Given the description of an element on the screen output the (x, y) to click on. 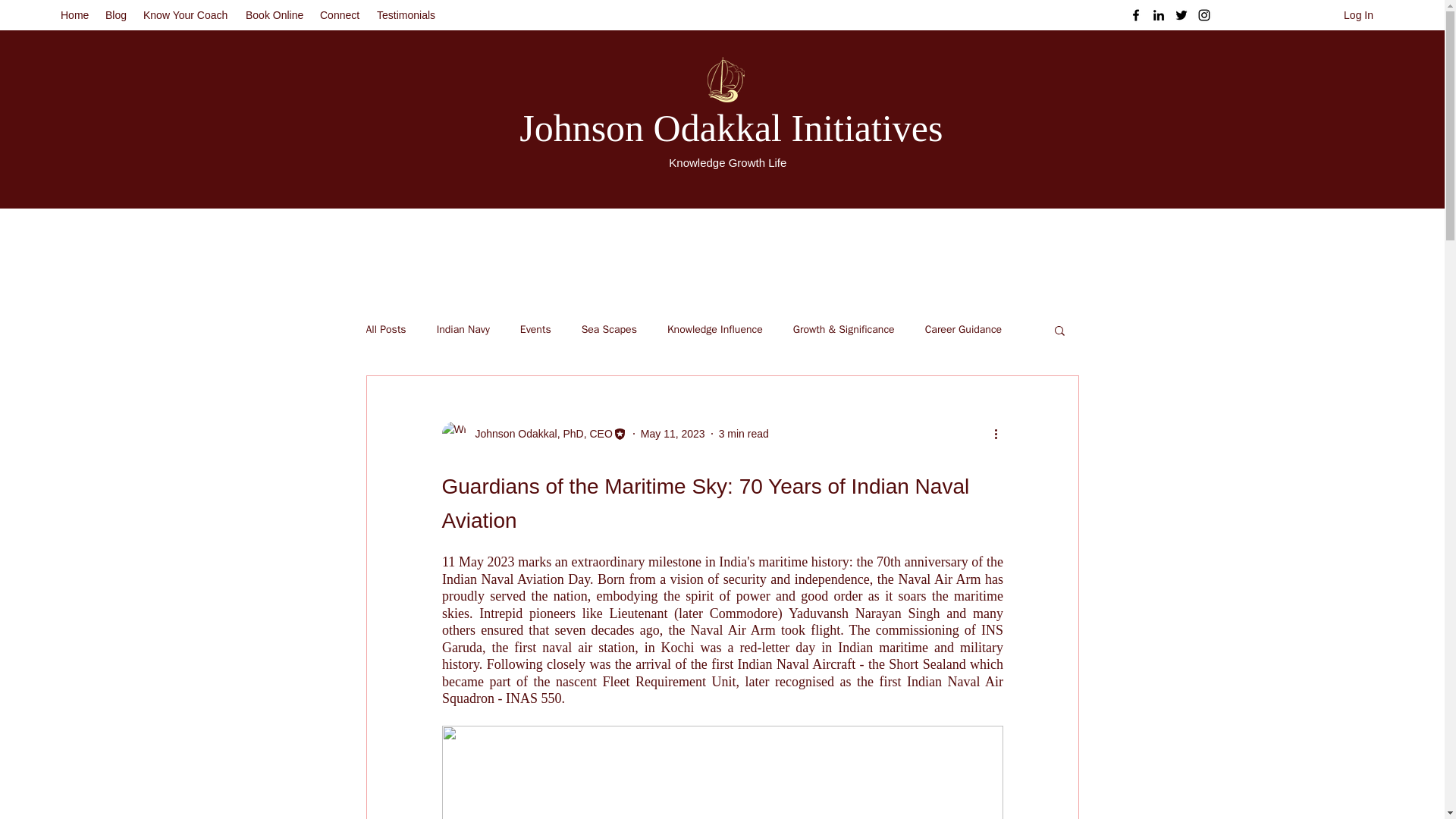
3 min read (743, 433)
Testimonials (407, 15)
Know Your Coach (186, 15)
Sea Scapes (608, 329)
All Posts (385, 329)
Blog (116, 15)
Connect (341, 15)
Johnson Odakkal Initiatives (730, 128)
Johnson Odakkal, PhD, CEO (533, 433)
Log In (1358, 15)
Indian Navy (462, 329)
Home (74, 15)
Career Guidance (962, 329)
Johnson Odakkal, PhD, CEO  (538, 433)
Events (535, 329)
